Given the description of an element on the screen output the (x, y) to click on. 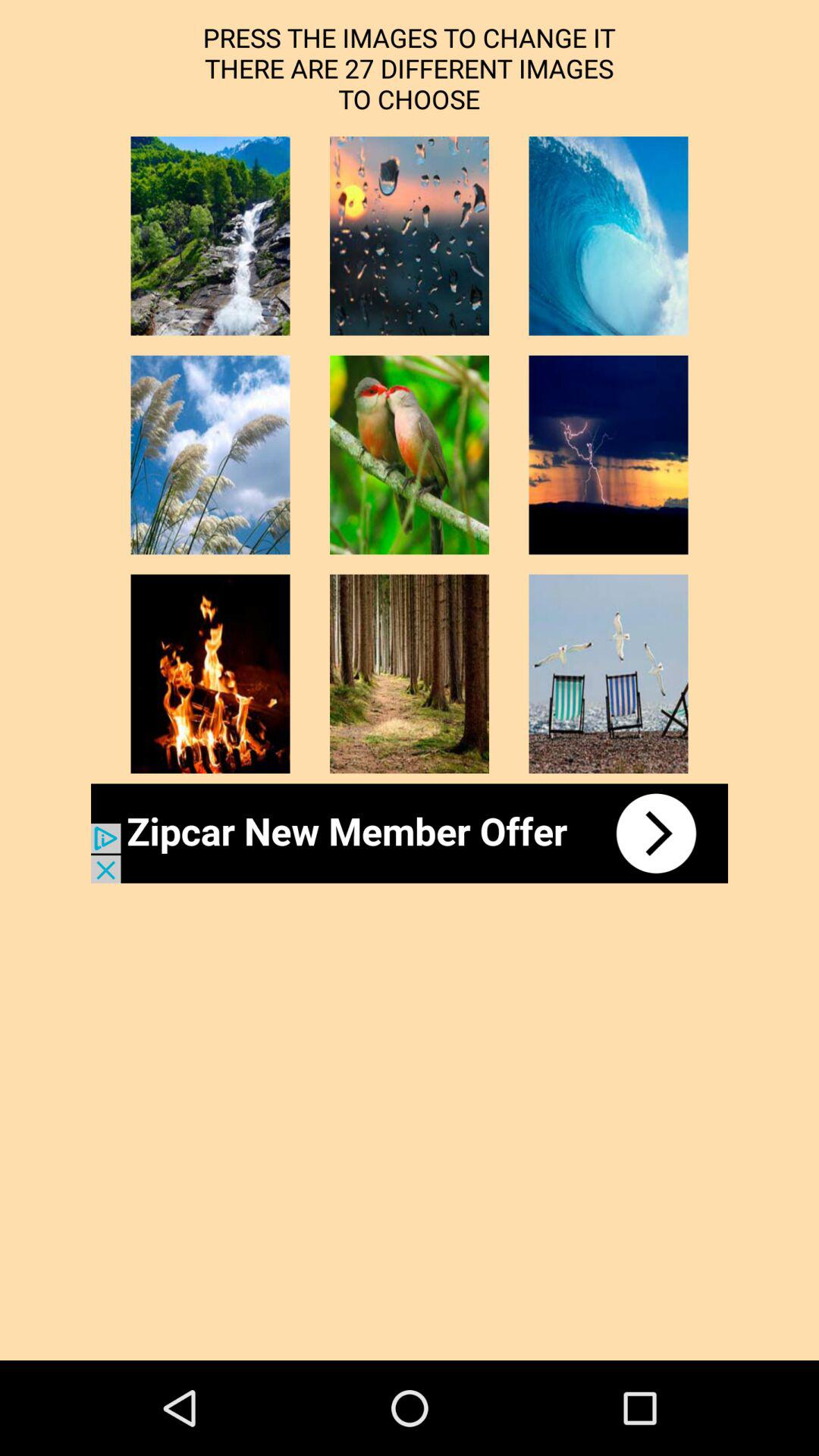
go to image (608, 673)
